Given the description of an element on the screen output the (x, y) to click on. 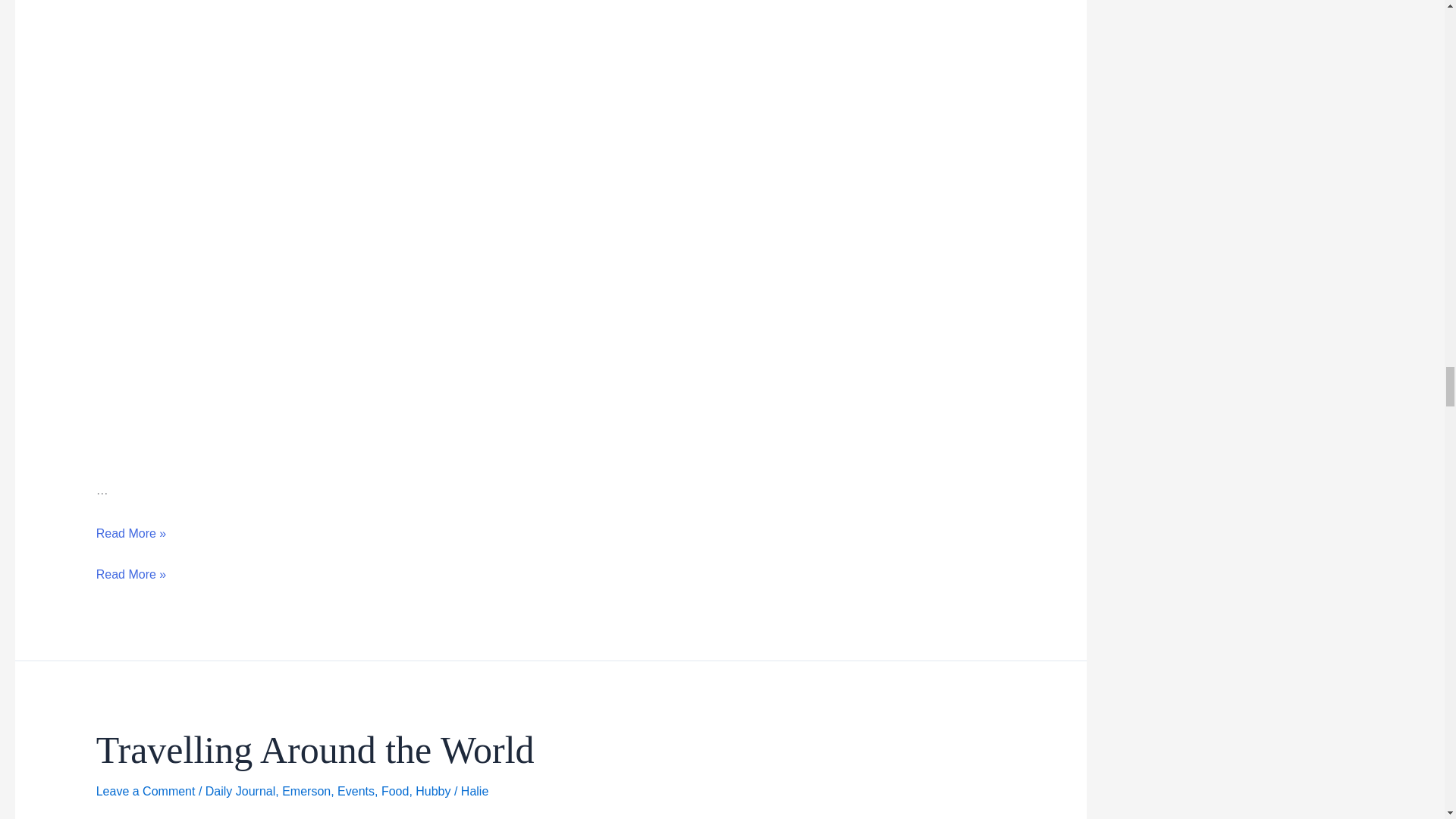
View all posts by Halie (474, 790)
